Given the description of an element on the screen output the (x, y) to click on. 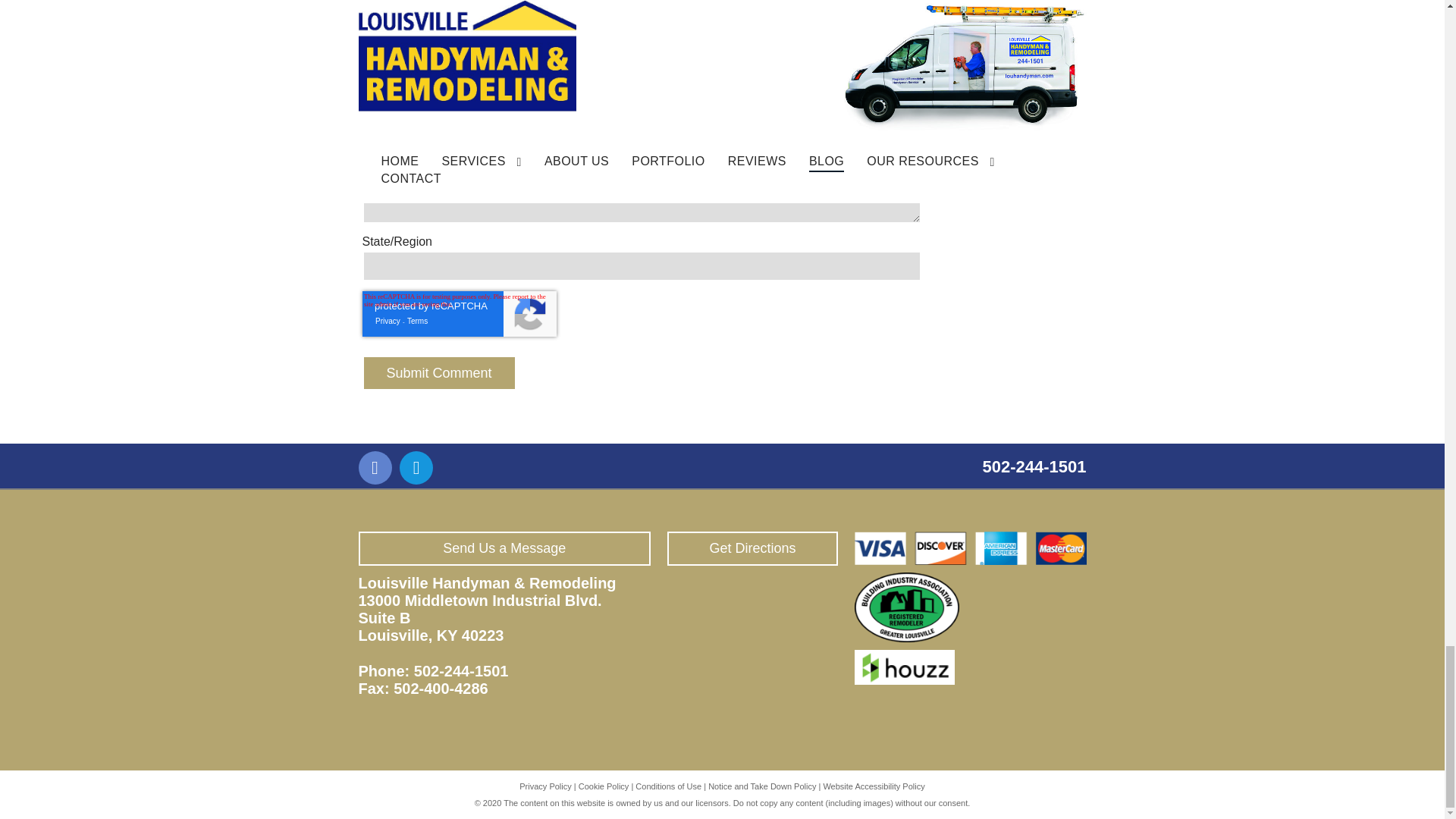
Submit Comment (439, 372)
reCAPTCHA (459, 313)
